Given the description of an element on the screen output the (x, y) to click on. 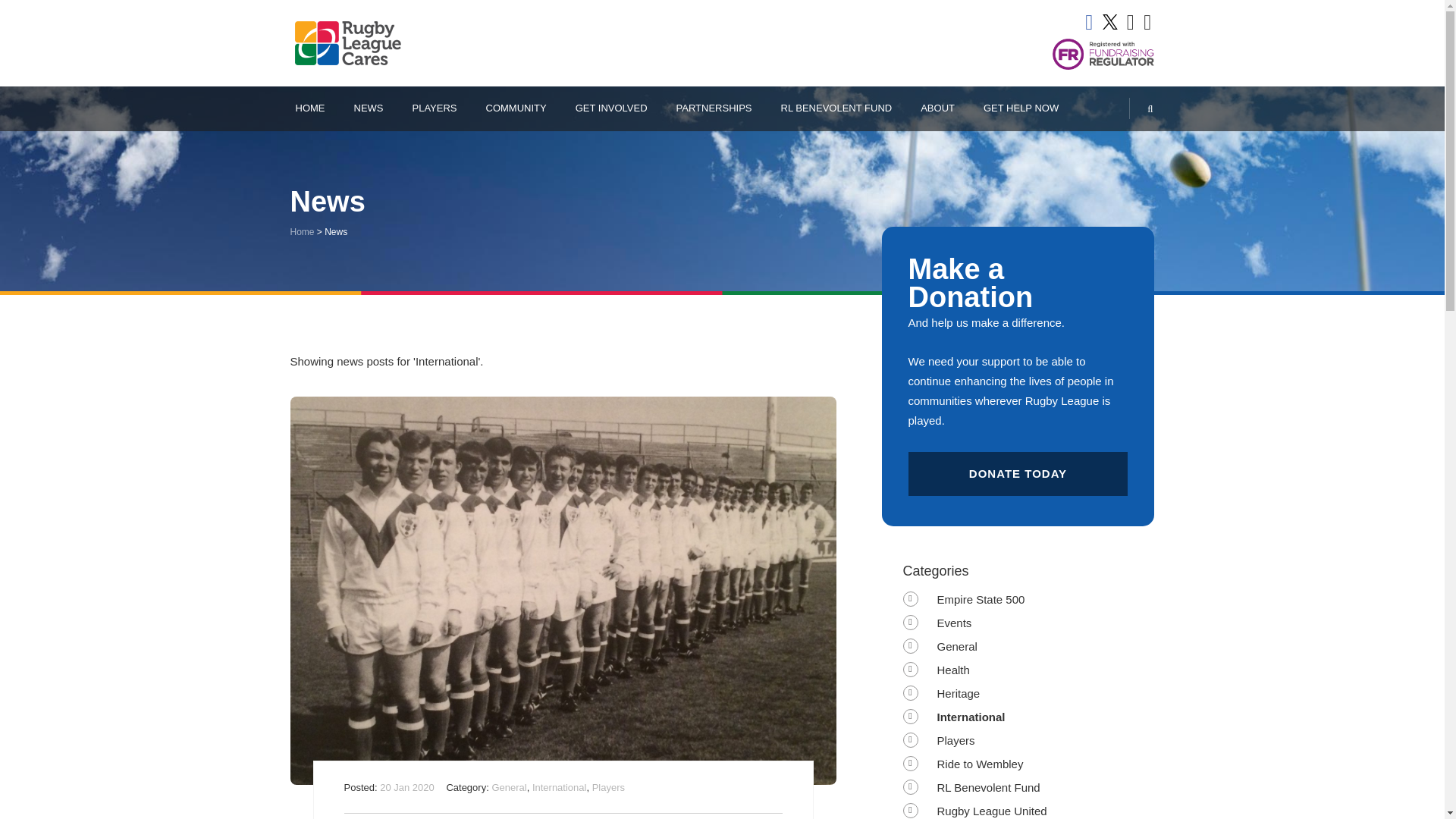
NEWS (368, 108)
HOME (309, 108)
COMMUNITY (515, 108)
GET INVOLVED (611, 108)
PLAYERS (433, 108)
